Given the description of an element on the screen output the (x, y) to click on. 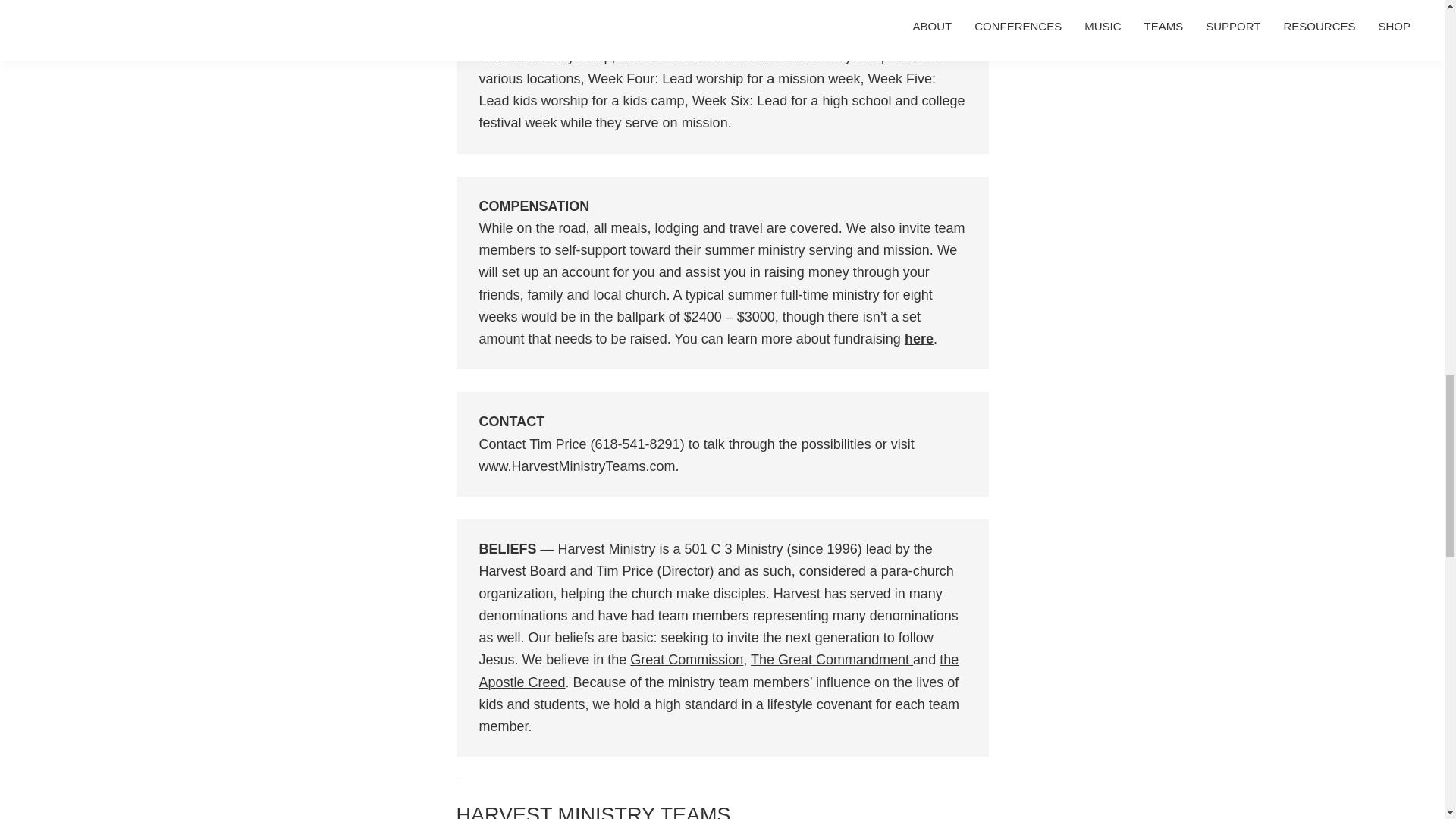
the Apostle Creed (719, 670)
The Great Commandment (831, 659)
here (918, 338)
Great Commission (686, 659)
